Given the description of an element on the screen output the (x, y) to click on. 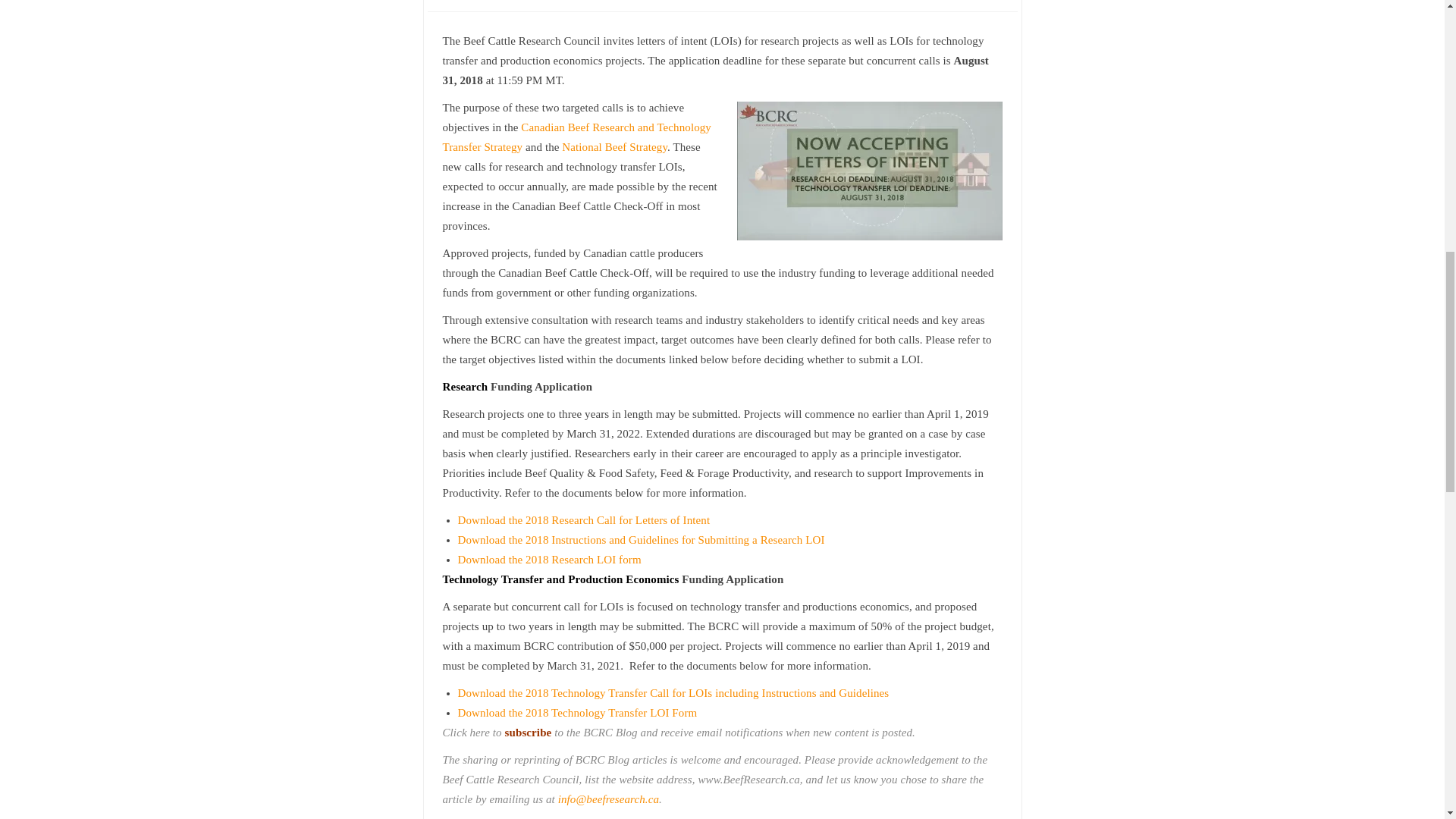
Click here to subscribe (496, 732)
Download the 2018 Research Call for Letters of Intent (584, 520)
Canadian Beef Research and Technology Transfer Strategy (576, 137)
Download the 2018 Technology Transfer LOI Form (577, 712)
Download the 2018 Research LOI form (550, 559)
National Beef Strategy (614, 146)
